Given the description of an element on the screen output the (x, y) to click on. 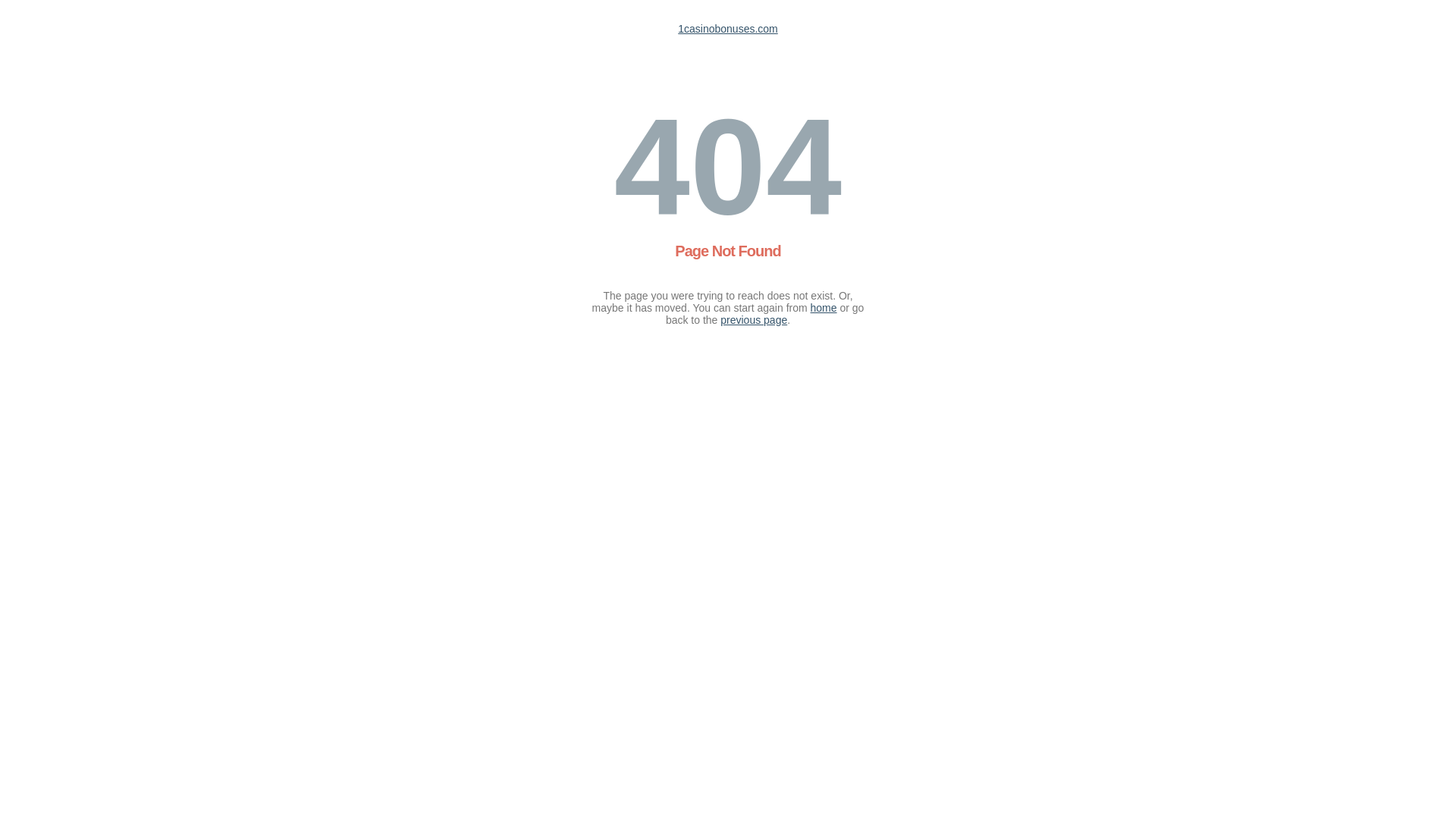
previous page Element type: text (753, 319)
1casinobonuses.com Element type: text (727, 28)
home Element type: text (823, 307)
